Given the description of an element on the screen output the (x, y) to click on. 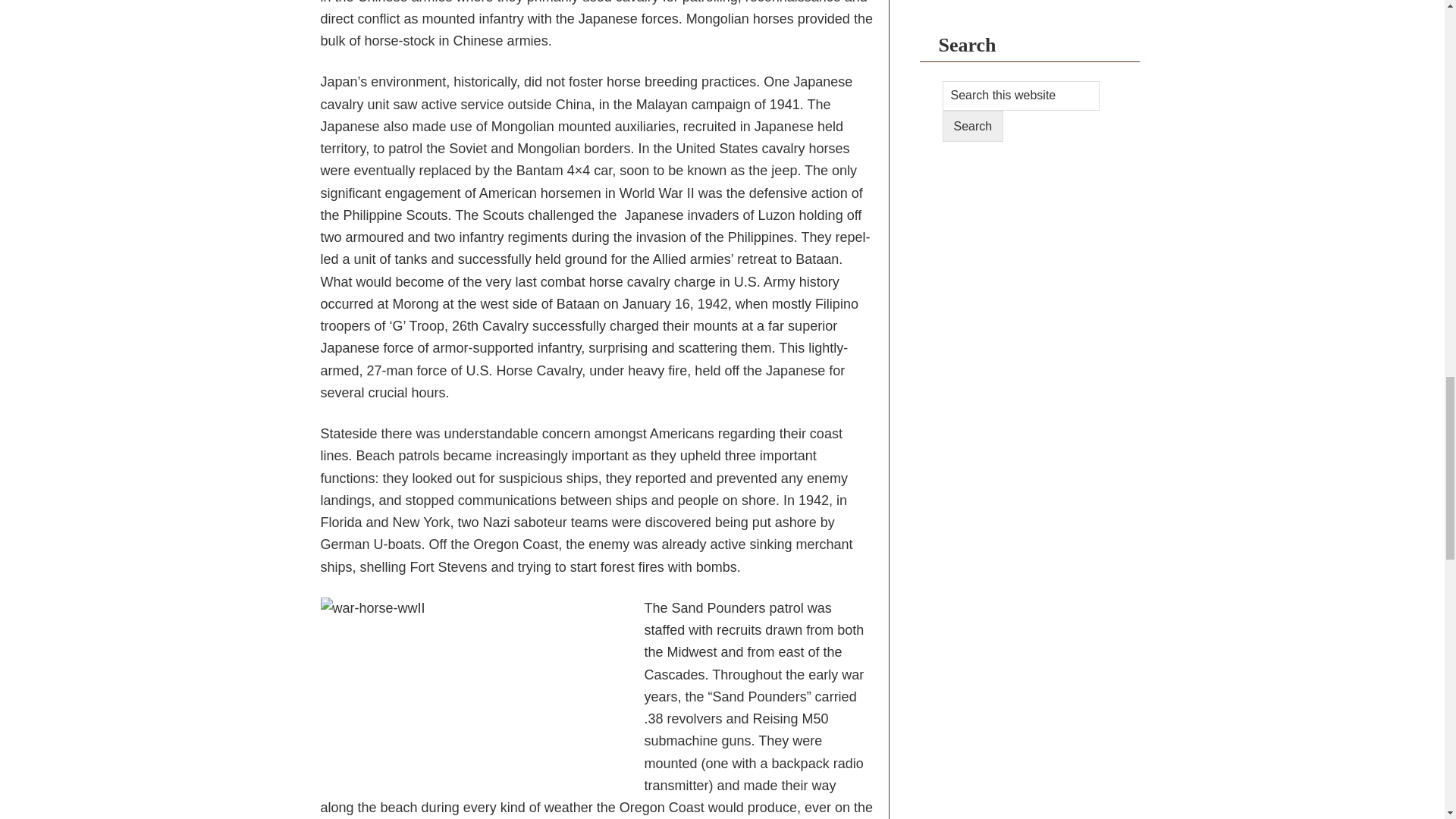
Search (972, 125)
Search (972, 125)
